Given the description of an element on the screen output the (x, y) to click on. 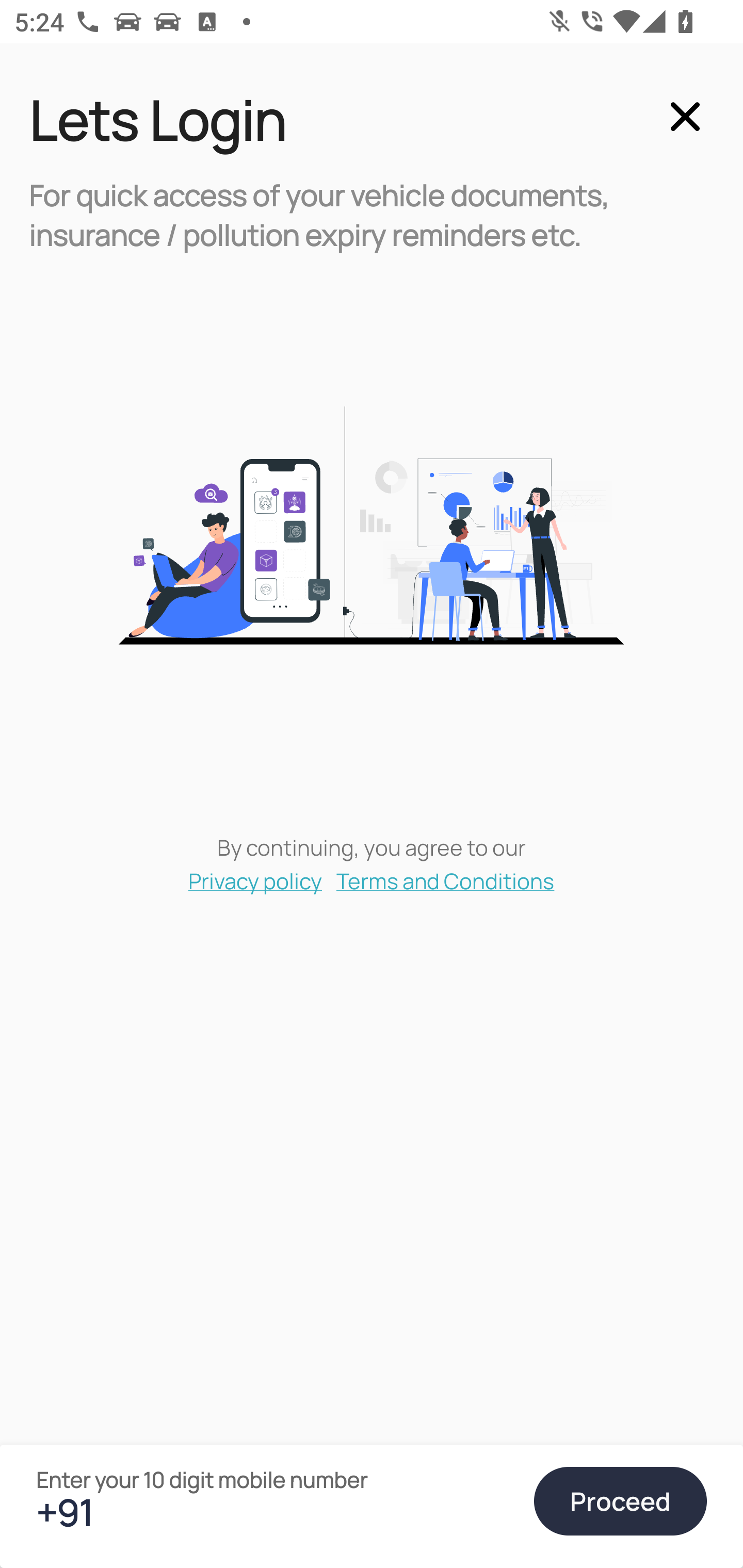
Privacy policy (254, 880)
Terms and Conditions (445, 880)
Proceed (620, 1501)
Enter your 10 digit mobile number (275, 1512)
